Given the description of an element on the screen output the (x, y) to click on. 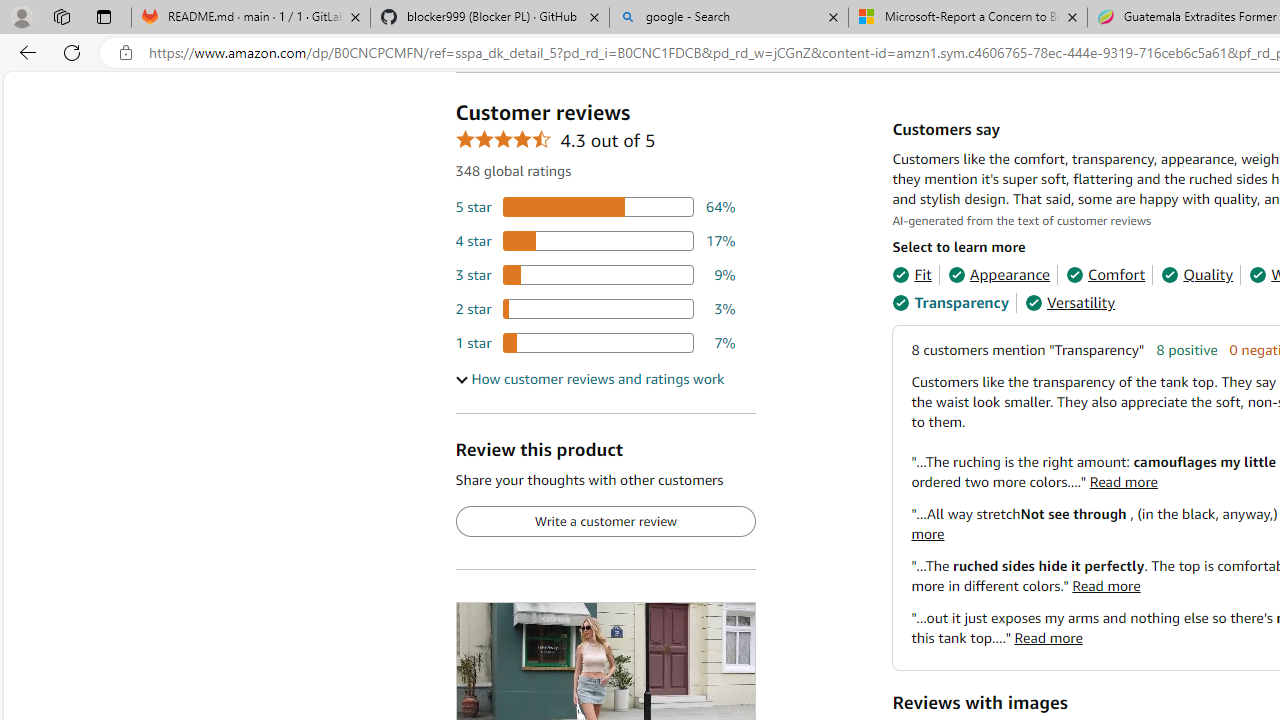
Transparency (950, 303)
9 percent of reviews have 3 stars (595, 274)
How customer reviews and ratings work (589, 379)
17 percent of reviews have 4 stars (595, 241)
Versatility (1070, 303)
Fit (911, 274)
Comfort (1105, 274)
64 percent of reviews have 5 stars (595, 207)
